Given the description of an element on the screen output the (x, y) to click on. 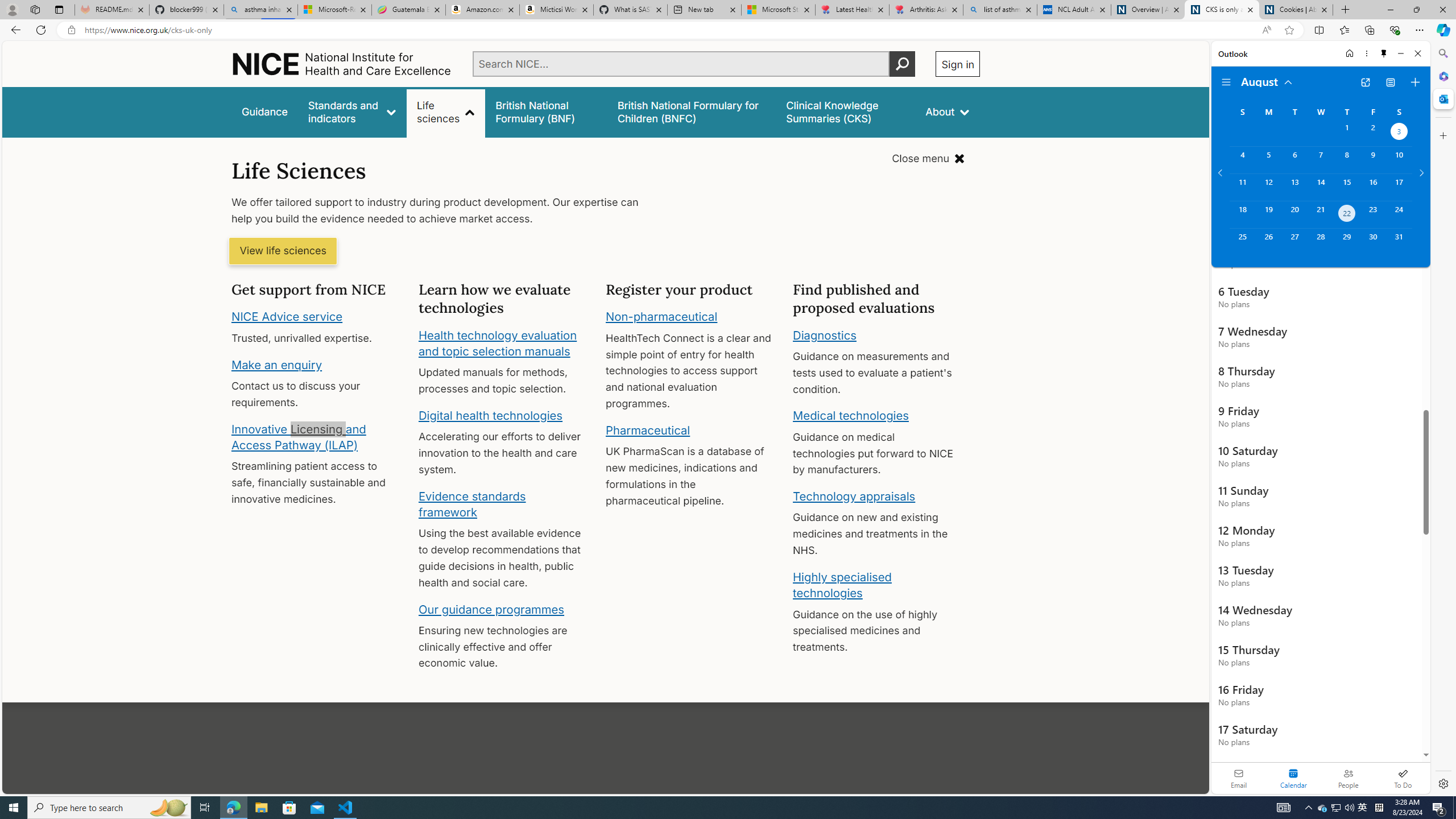
New tab (703, 9)
Make an enquiry (276, 364)
Wednesday, August 7, 2024.  (1320, 159)
Diagnostics (824, 334)
Saturday, August 3, 2024. Date selected.  (1399, 132)
asthma inhaler - Search (260, 9)
Arthritis: Ask Health Professionals (925, 9)
People (1347, 777)
Tuesday, August 20, 2024.  (1294, 214)
Perform search (902, 63)
